Given the description of an element on the screen output the (x, y) to click on. 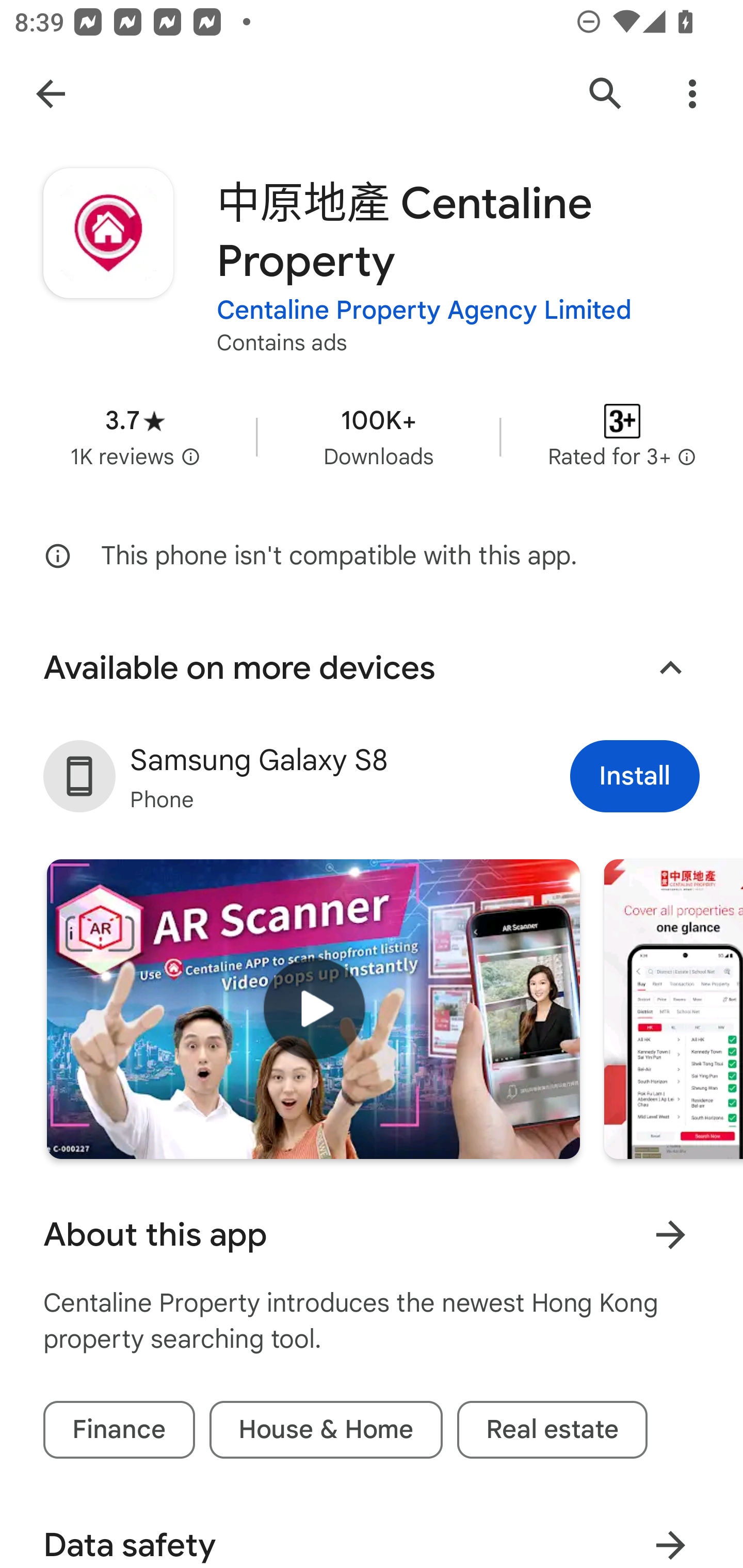
Navigate up (50, 93)
Search Google Play (605, 93)
More Options (692, 93)
Centaline Property Agency Limited (423, 310)
Average rating 3.7 stars in 1 thousand reviews (135, 436)
Content rating Rated for 3+ (622, 436)
Available on more devices Collapse (371, 667)
Collapse (670, 667)
Install (634, 776)
Play trailer for "中原地產 Centaline Property" (313, 1008)
About this app Learn more About this app (371, 1234)
Learn more About this app (670, 1234)
Finance tag (118, 1429)
House & Home tag (325, 1429)
Real estate tag (551, 1429)
Data safety Learn more about data safety (371, 1531)
Learn more about data safety (670, 1535)
